Given the description of an element on the screen output the (x, y) to click on. 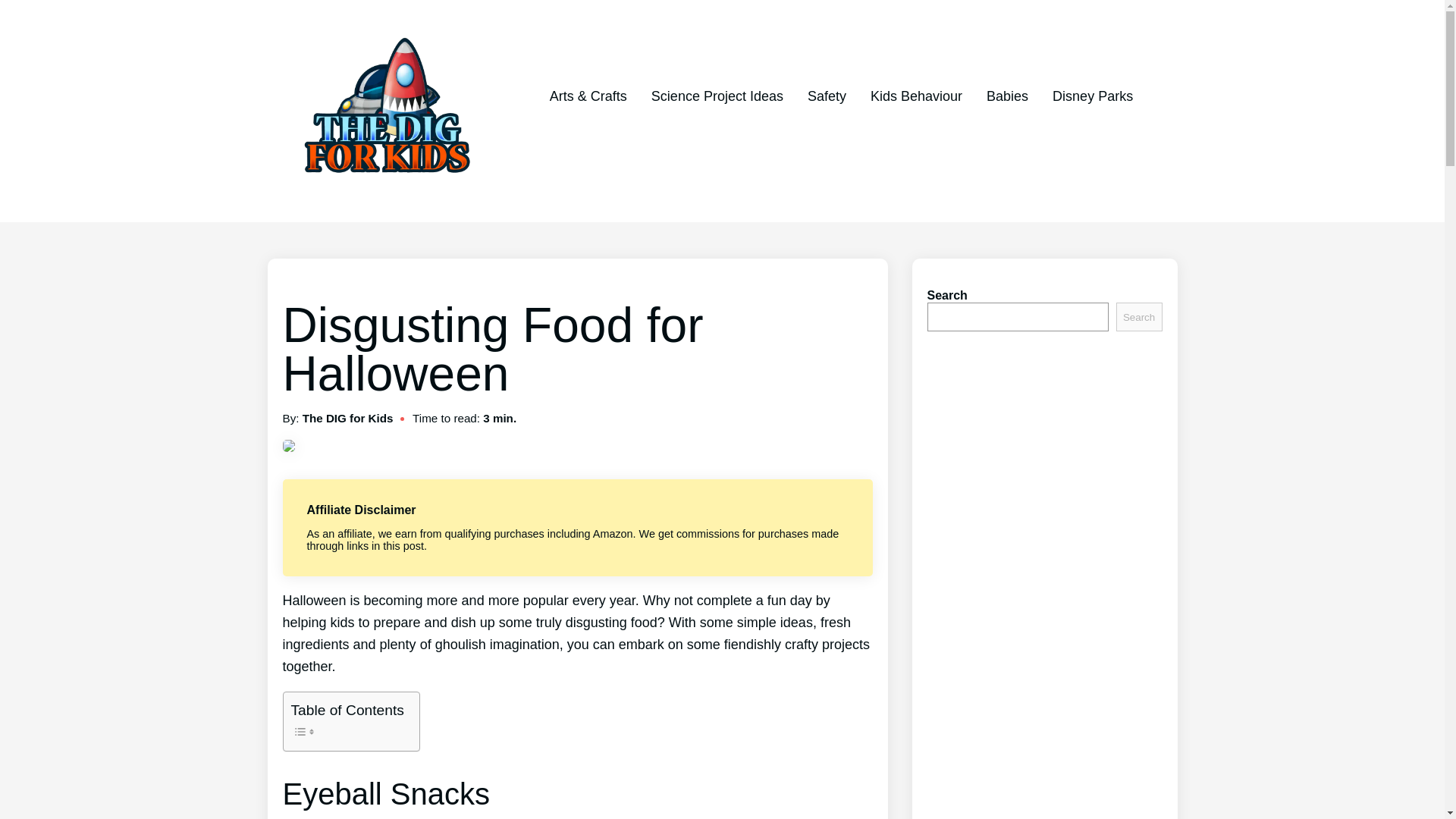
Babies (1007, 96)
Safety (826, 96)
Search (1138, 316)
Kids Behaviour (916, 96)
Disney Parks (1092, 96)
Search for: (841, 133)
Science Project Ideas (716, 96)
